Given the description of an element on the screen output the (x, y) to click on. 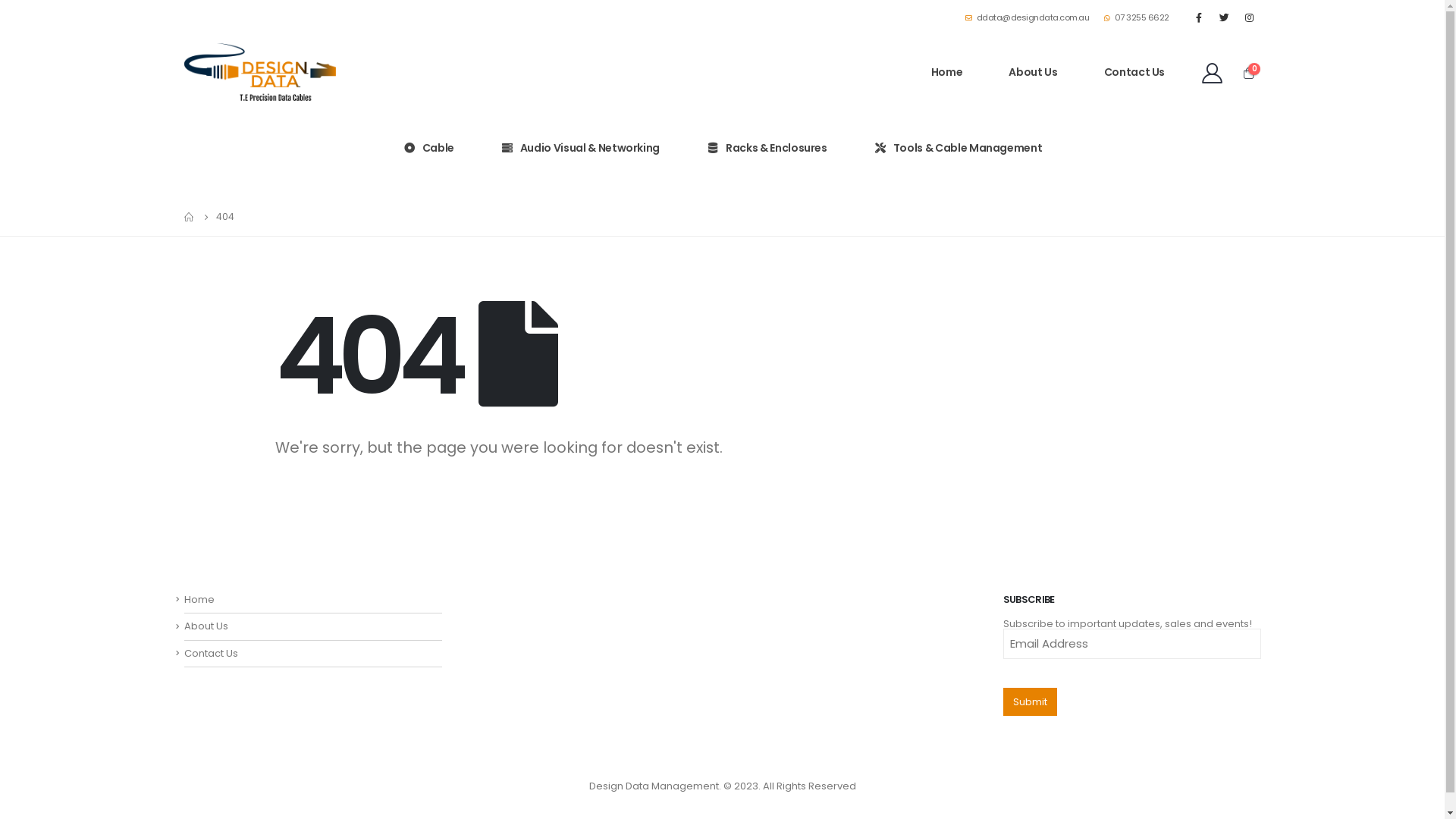
Contact Us Element type: text (210, 653)
Design Data Management - T.E Precision Data Cables Element type: hover (259, 71)
Racks & Enclosures Element type: text (766, 147)
Home Element type: text (946, 71)
Contact Us Element type: text (1134, 71)
About Us Element type: text (205, 625)
Instagram Element type: hover (1249, 16)
ddata@designdata.com.au Element type: text (1030, 17)
Audio Visual & Networking Element type: text (579, 147)
Home Element type: text (198, 599)
07 3255 6622 Element type: text (1136, 17)
Twitter Element type: hover (1223, 16)
Facebook Element type: hover (1198, 16)
Go to Home Page Element type: hover (188, 216)
About Us Element type: text (1032, 71)
Submit Element type: text (1029, 701)
Tools & Cable Management Element type: text (957, 147)
My Account Element type: hover (1211, 72)
Cable Element type: text (427, 147)
